Given the description of an element on the screen output the (x, y) to click on. 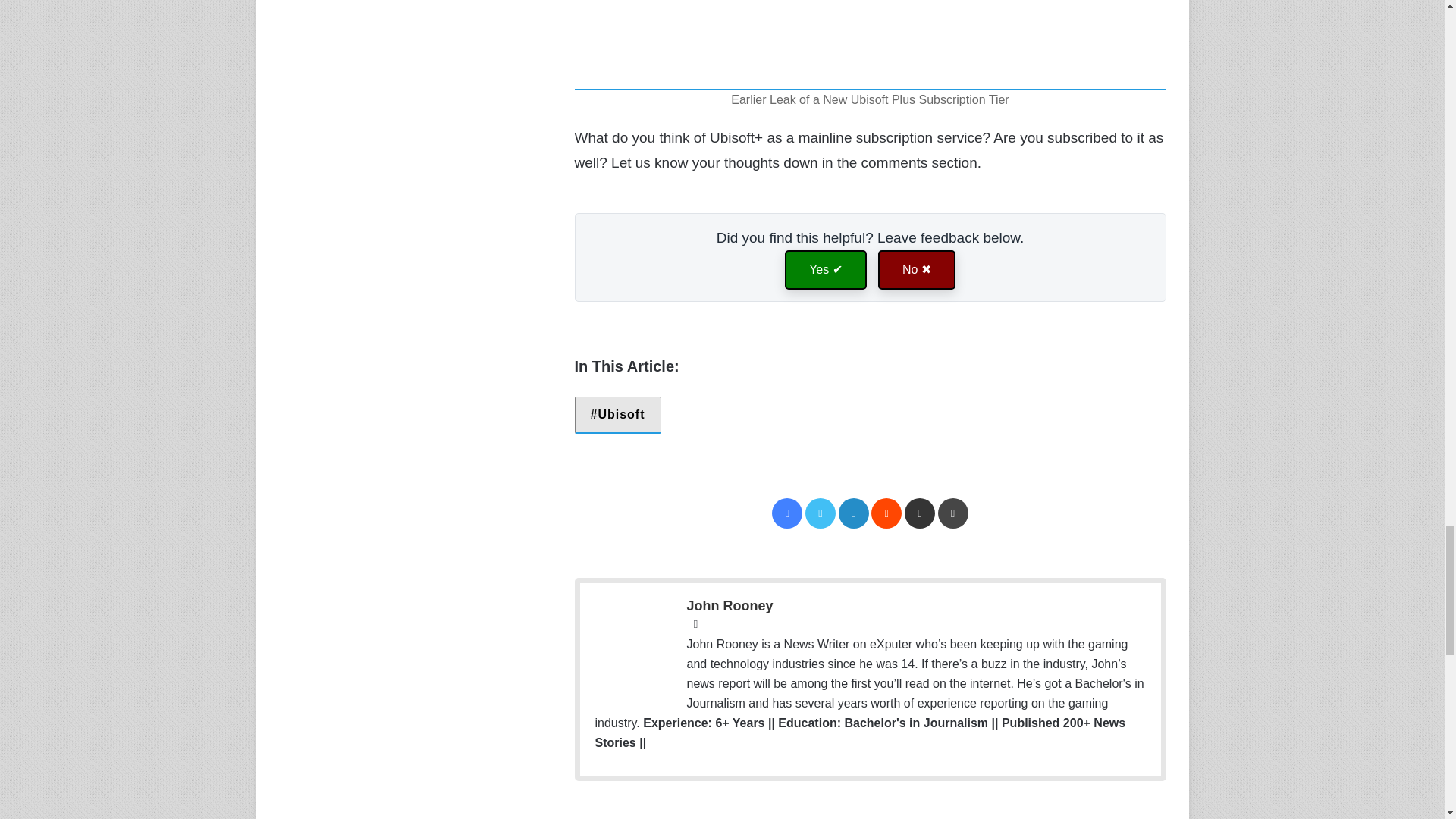
LinkedIn (853, 512)
Reddit (885, 512)
Share via Email (919, 512)
Facebook (786, 512)
Twitter (820, 512)
Print (952, 512)
